Given the description of an element on the screen output the (x, y) to click on. 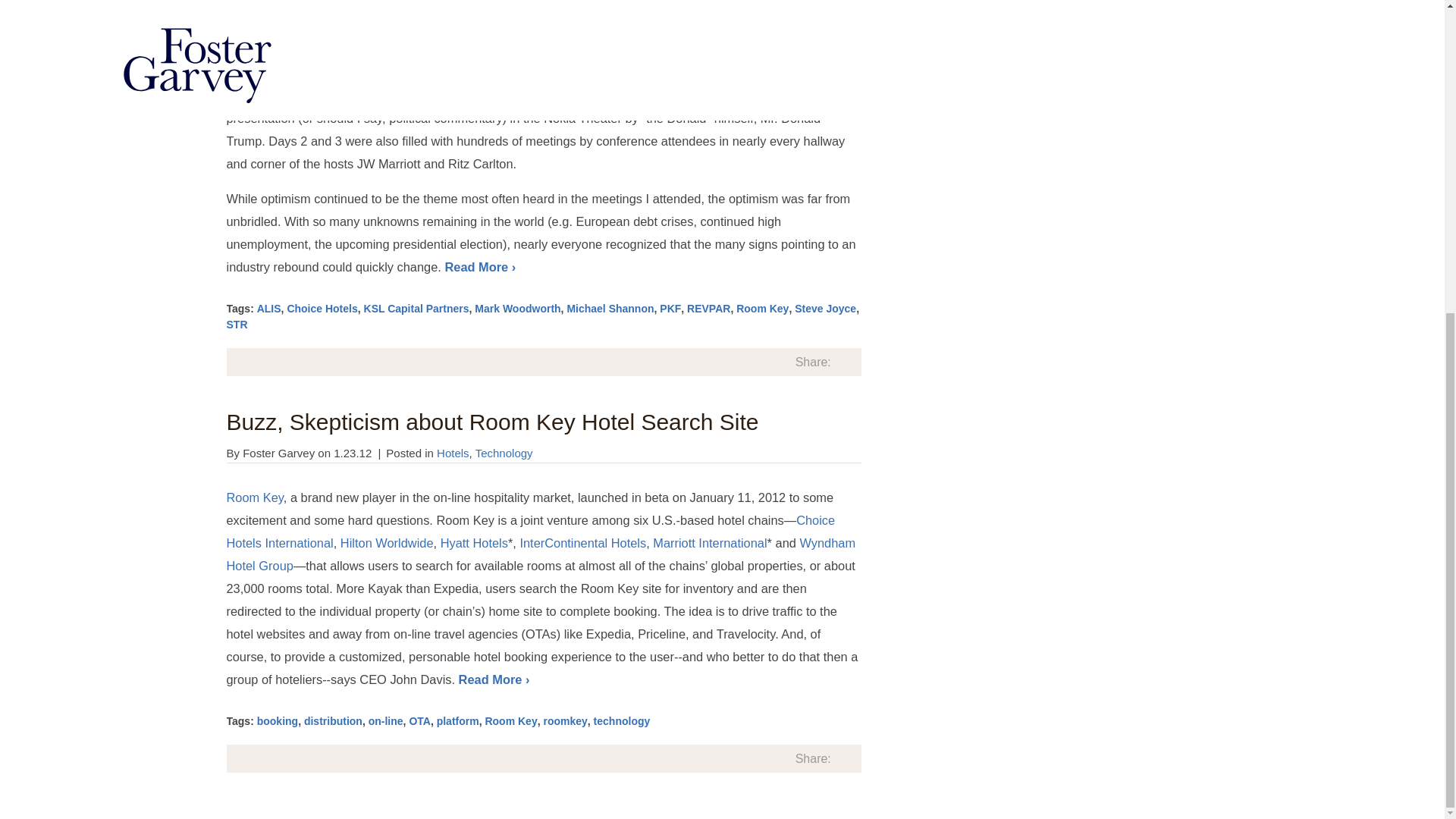
Marriott International (709, 542)
platform (457, 720)
distribution (333, 720)
Buzz, Skepticism about Room Key Hotel Search Site (491, 421)
Room Key (510, 720)
OTA (419, 720)
Conference Notes (497, 29)
Room Key (253, 497)
Wyndham Hotel Group (540, 554)
Hyatt Hotels (474, 542)
Room Key (253, 497)
on-line (385, 720)
STR (236, 324)
Mark Woodworth (517, 308)
Choice Hotels International (529, 531)
